Given the description of an element on the screen output the (x, y) to click on. 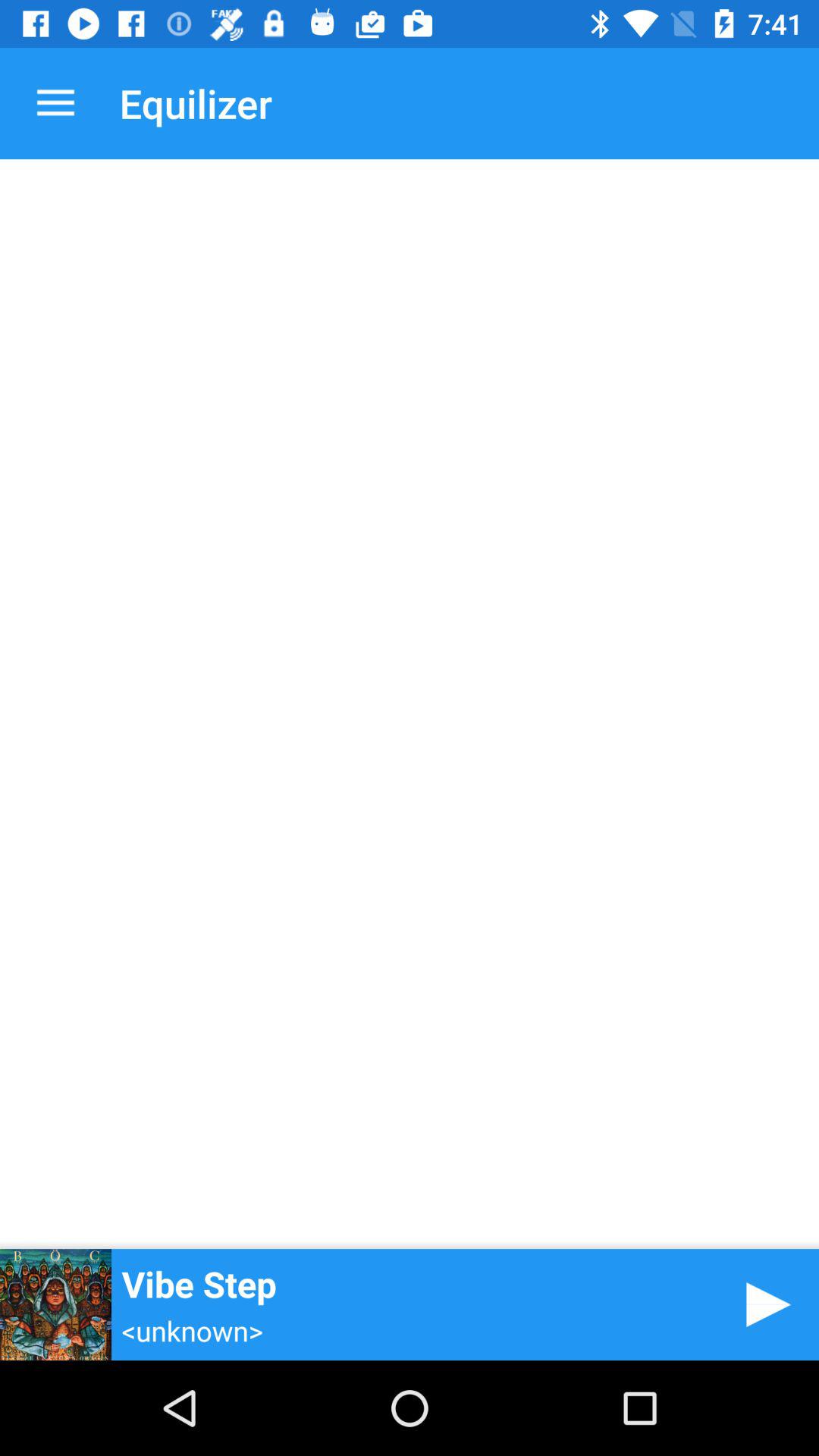
press the item next to the vibe step (763, 1304)
